Given the description of an element on the screen output the (x, y) to click on. 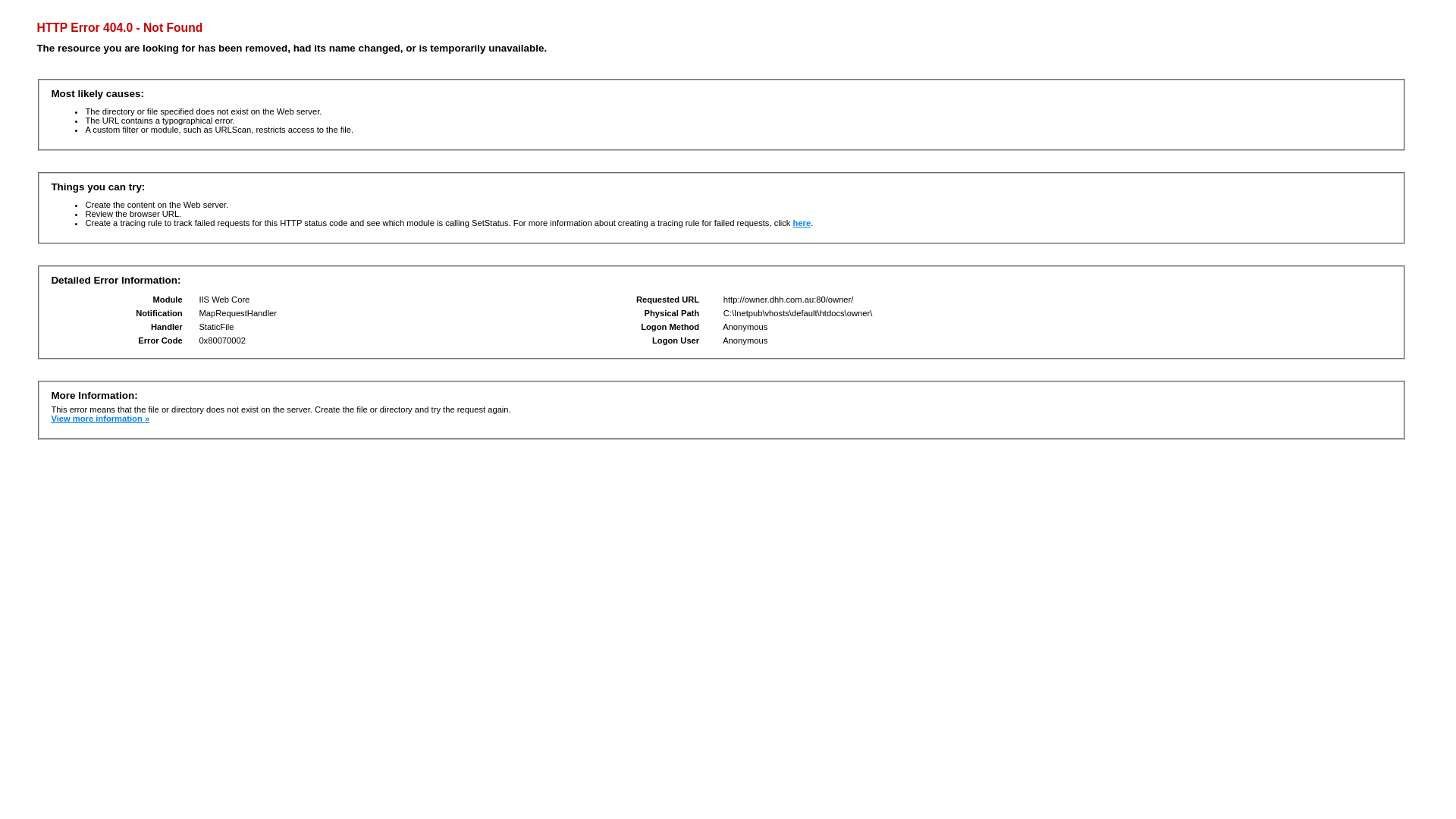
here Element type: text (802, 222)
